Given the description of an element on the screen output the (x, y) to click on. 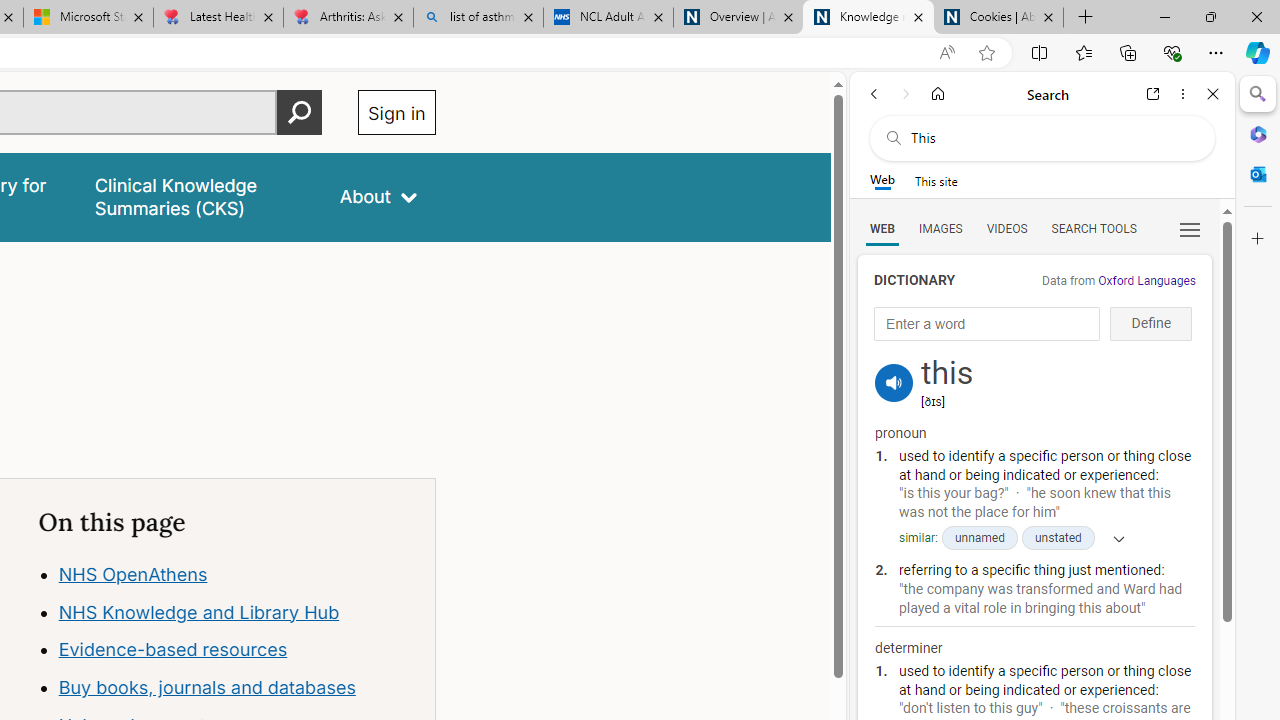
NHS OpenAthens (237, 574)
Cookies | About | NICE (998, 17)
false (198, 196)
Buy books, journals and databases (206, 687)
unnamed (978, 538)
Buy books, journals and databases (237, 688)
